Given the description of an element on the screen output the (x, y) to click on. 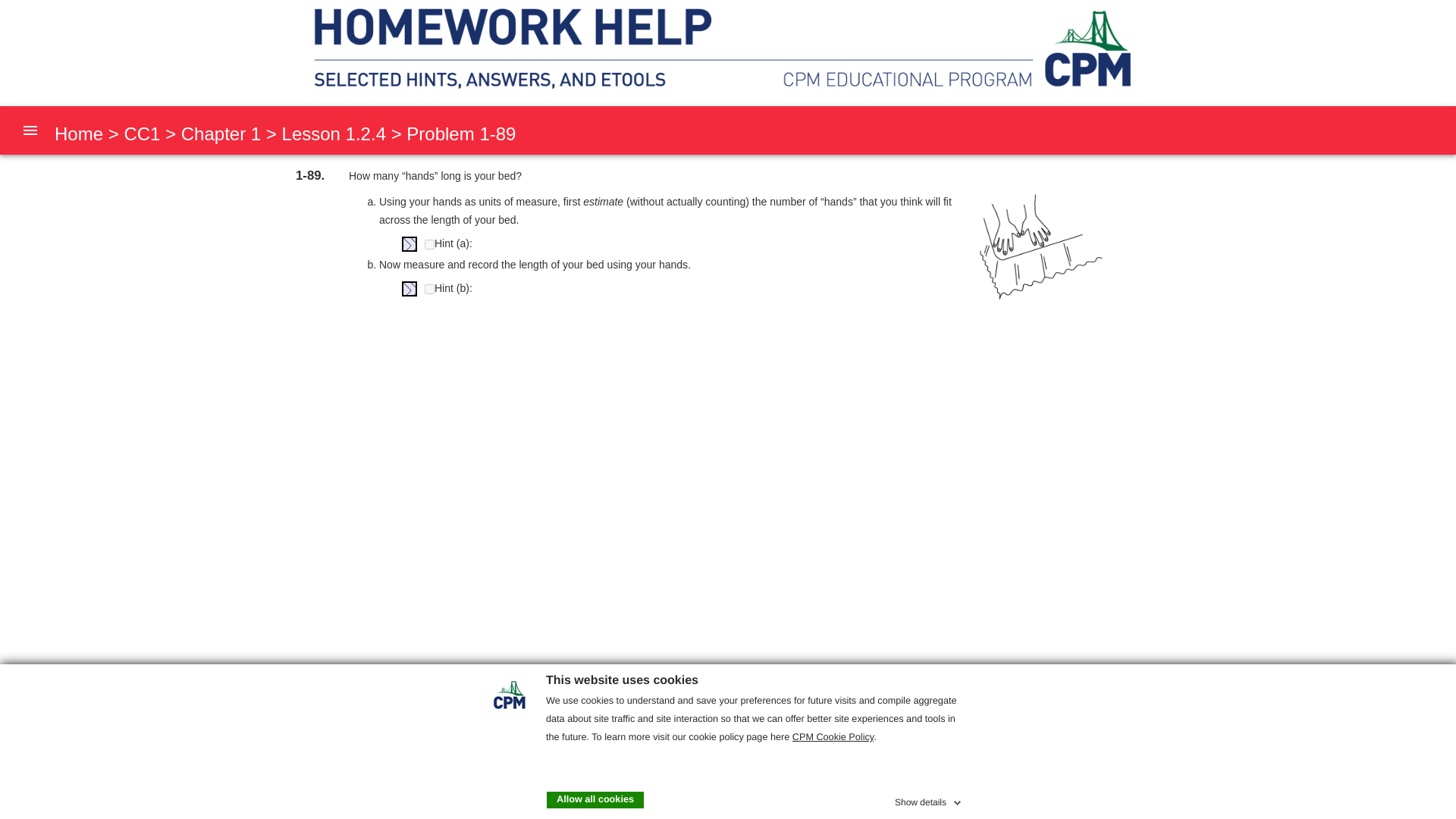
Allow all cookies (595, 799)
CPM Cookie Policy (832, 737)
on (429, 289)
Show details (929, 799)
on (429, 244)
